Given the description of an element on the screen output the (x, y) to click on. 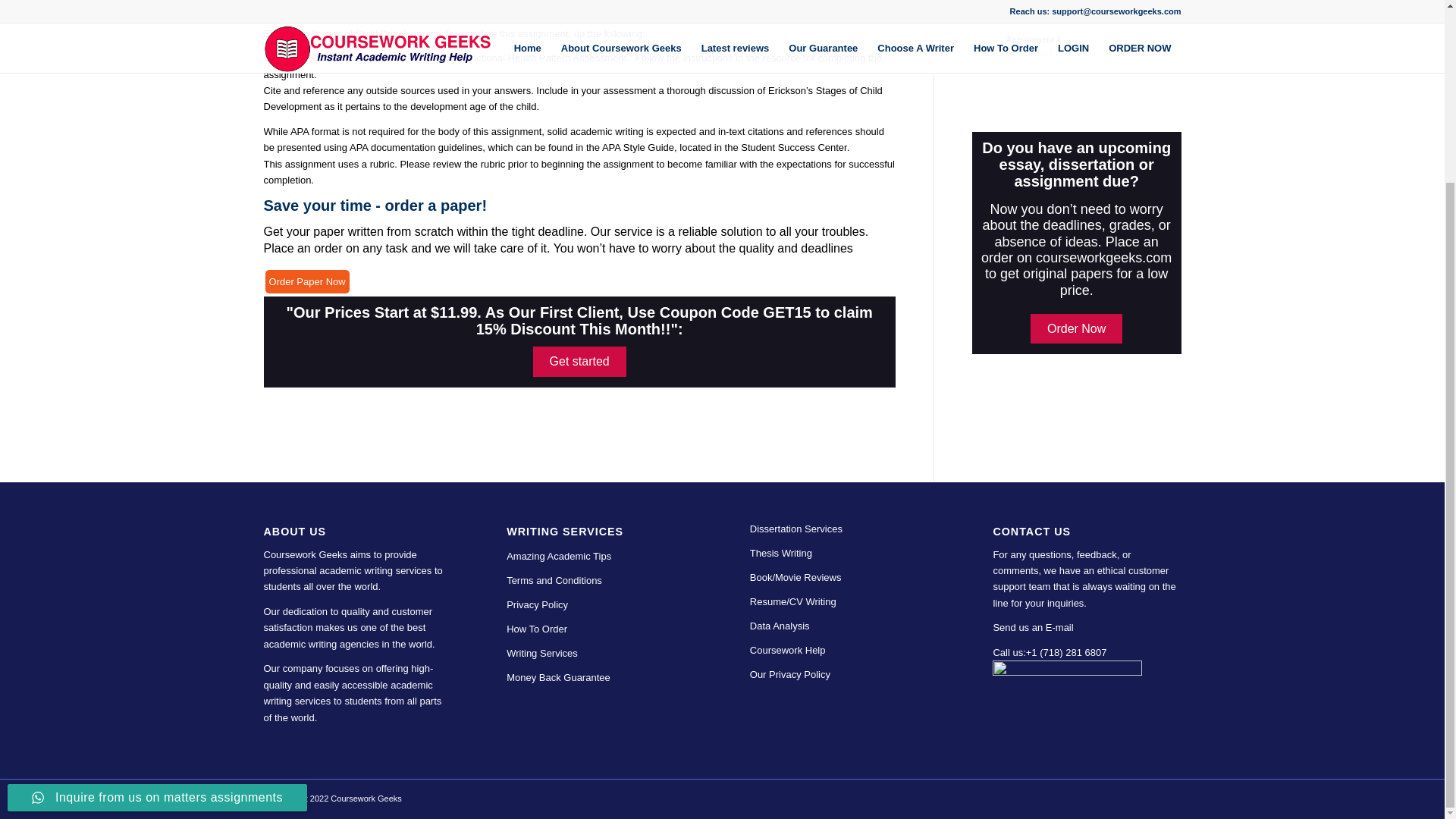
Order Now (1076, 328)
Order Paper Now (306, 281)
CISA Assignment 3 (1076, 11)
Get started (1076, 46)
Assignment 2 (1076, 11)
